Given the description of an element on the screen output the (x, y) to click on. 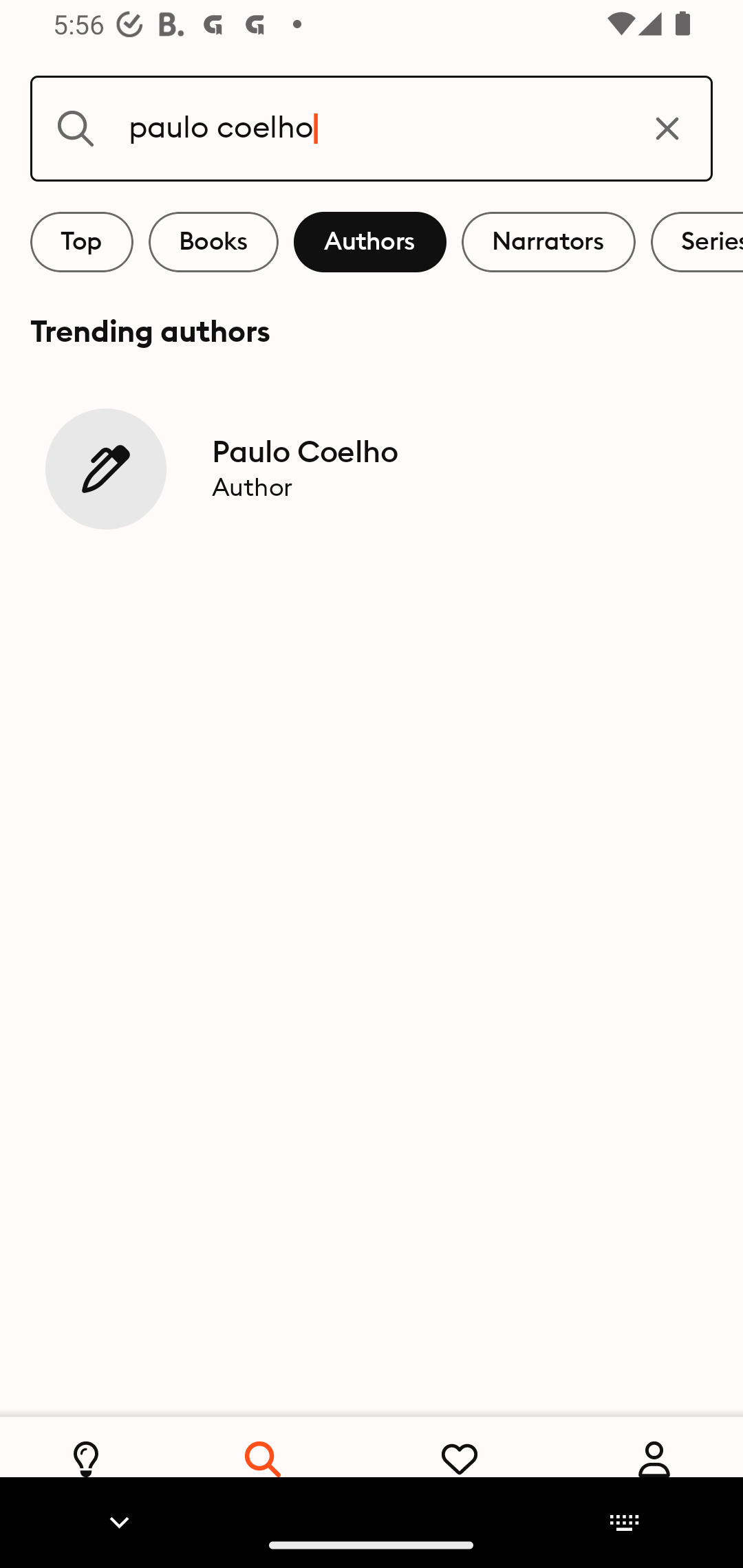
paulo coelho (371, 128)
Top (81, 241)
Books (213, 241)
Authors (369, 241)
Narrators (548, 241)
Series (696, 241)
Paulo Coelho Author (371, 468)
